Given the description of an element on the screen output the (x, y) to click on. 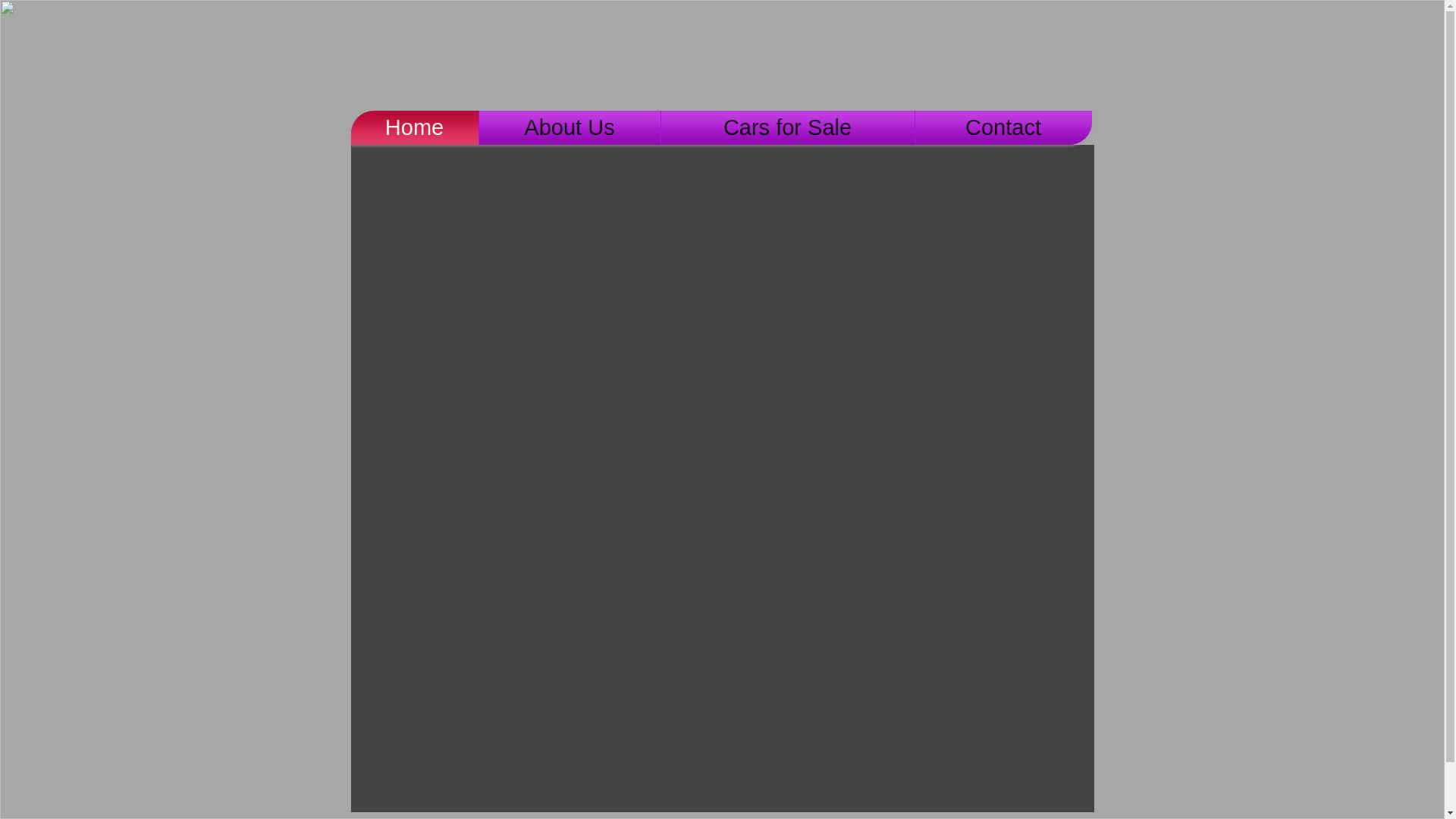
Home (413, 127)
About Us (570, 127)
Contact (1002, 127)
Cars for Sale (787, 127)
